Given the description of an element on the screen output the (x, y) to click on. 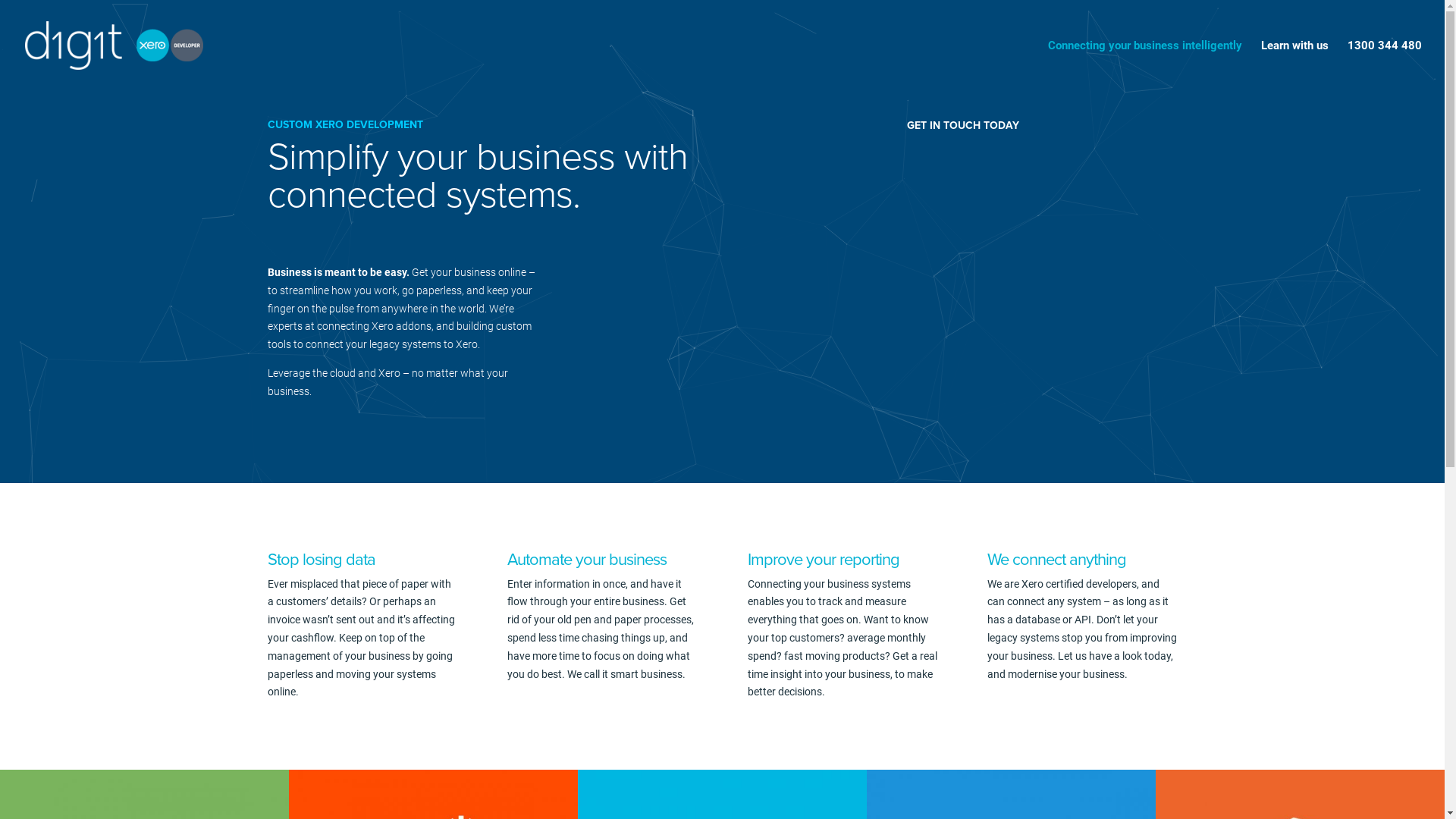
Learn with us Element type: text (1294, 65)
1300 344 480 Element type: text (1384, 65)
Connecting your business intelligently Element type: text (1145, 65)
